Given the description of an element on the screen output the (x, y) to click on. 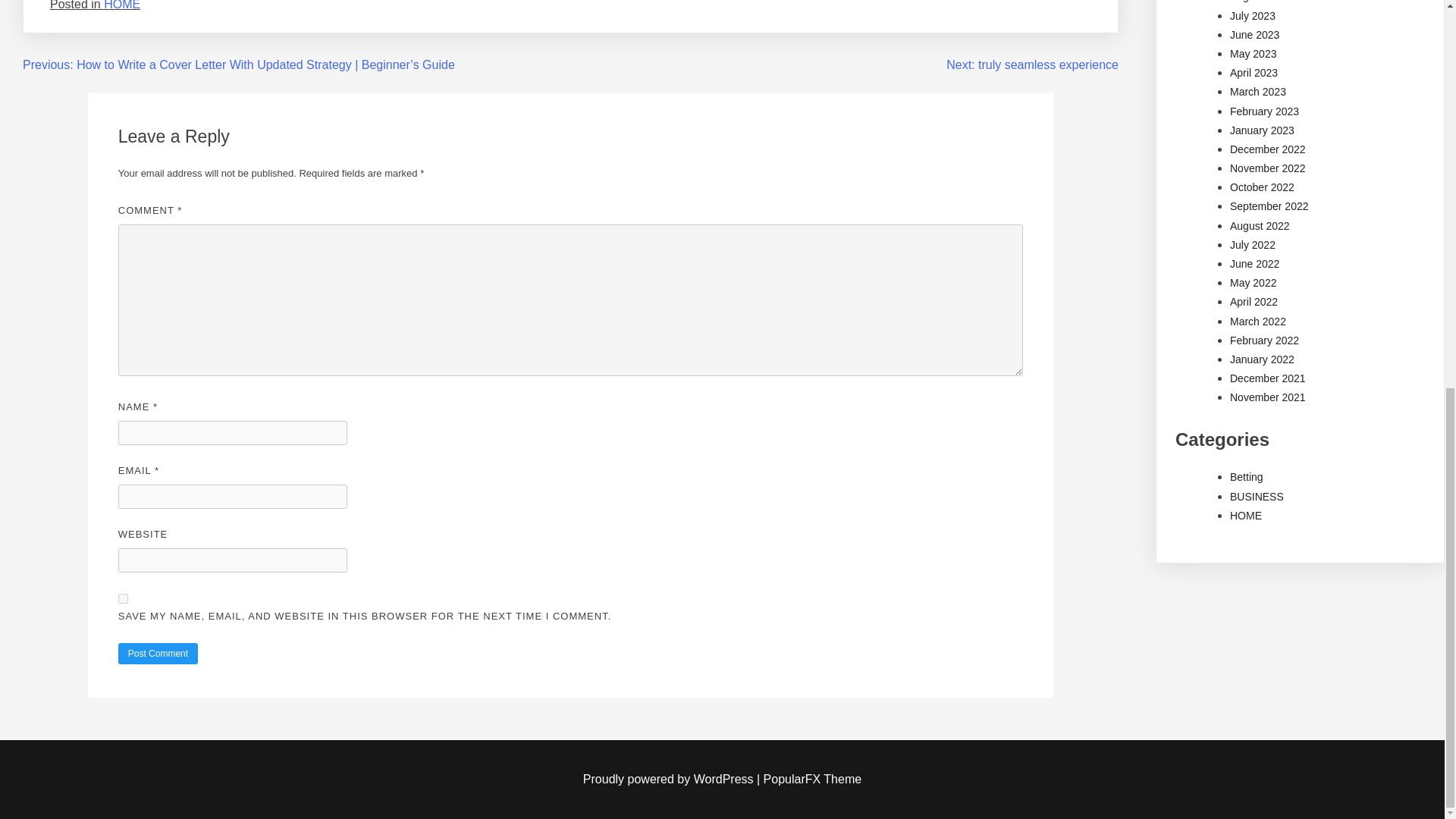
Next: truly seamless experience (1032, 64)
yes (122, 598)
HOME (121, 5)
August 2023 (1260, 1)
Post Comment (157, 653)
Post Comment (157, 653)
